Given the description of an element on the screen output the (x, y) to click on. 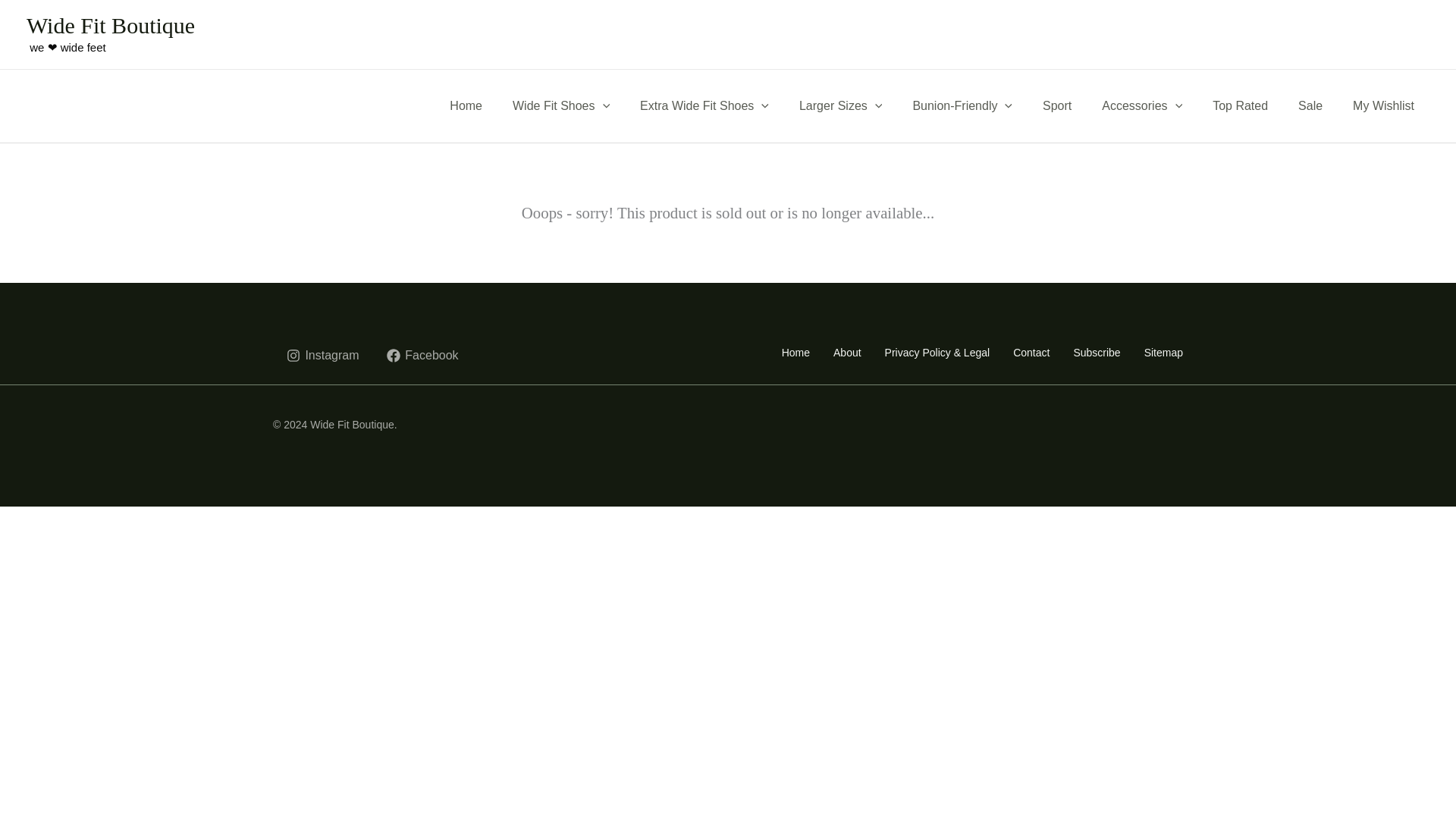
Wide Fit Boutique (110, 25)
Bunion-Friendly (961, 105)
Accessories (1141, 105)
Wide Fit Shoes (560, 105)
